Given the description of an element on the screen output the (x, y) to click on. 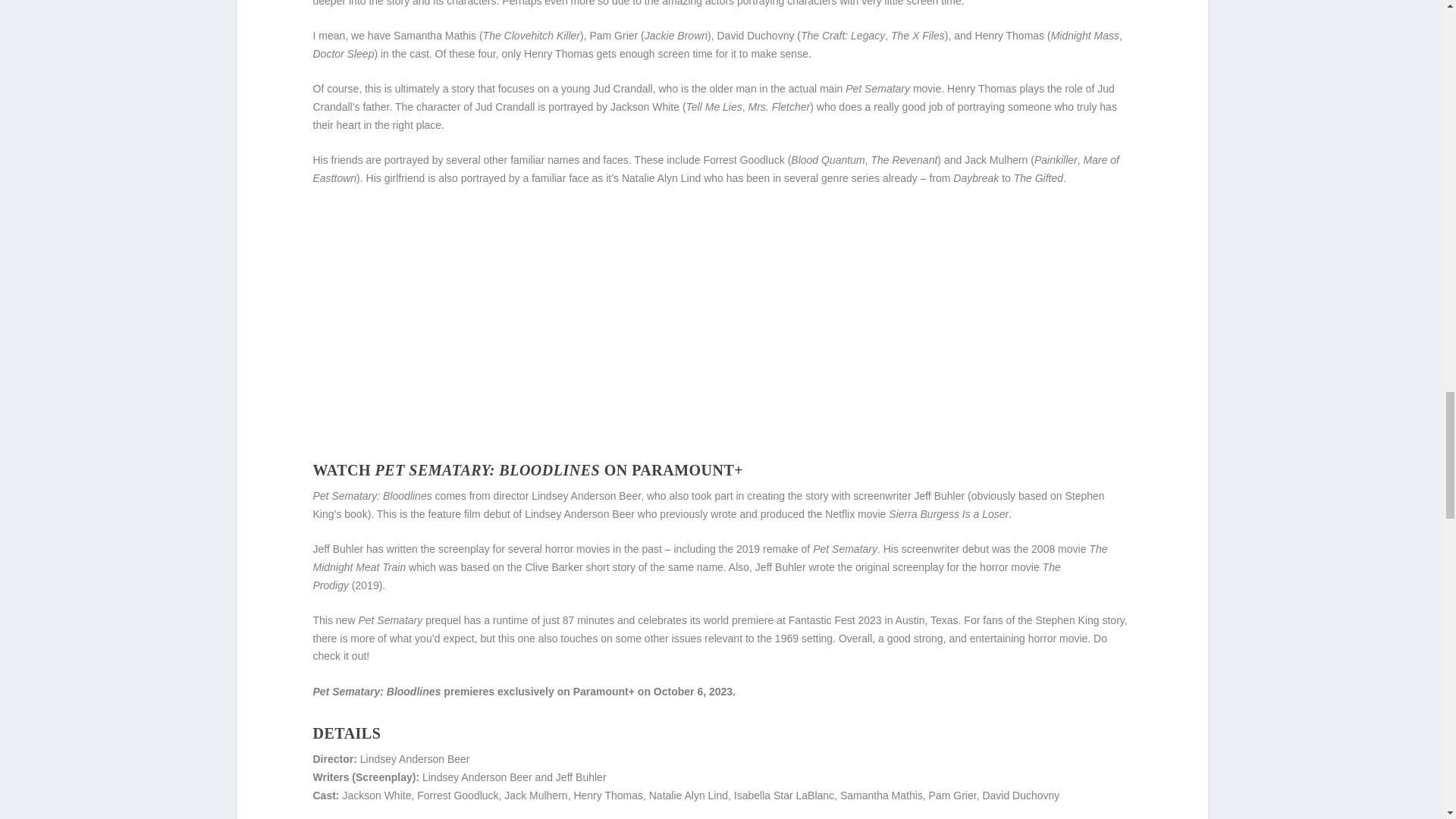
Blood Quantum (827, 159)
The Clovehitch Killer (531, 35)
Midnight Mass (1085, 35)
Clive Barker (553, 567)
Doctor Sleep (343, 53)
The Craft: Legacy (842, 35)
Henry Thomas (559, 53)
Fantastic Fest (822, 620)
Painkiller (1055, 159)
Daybreak (975, 177)
Mare of Easttown (716, 168)
the 2008 movie The Midnight Meat Train (709, 557)
Jackie Brown (676, 35)
the Netflix movie Sierra Burgess Is a Loser (908, 513)
